Given the description of an element on the screen output the (x, y) to click on. 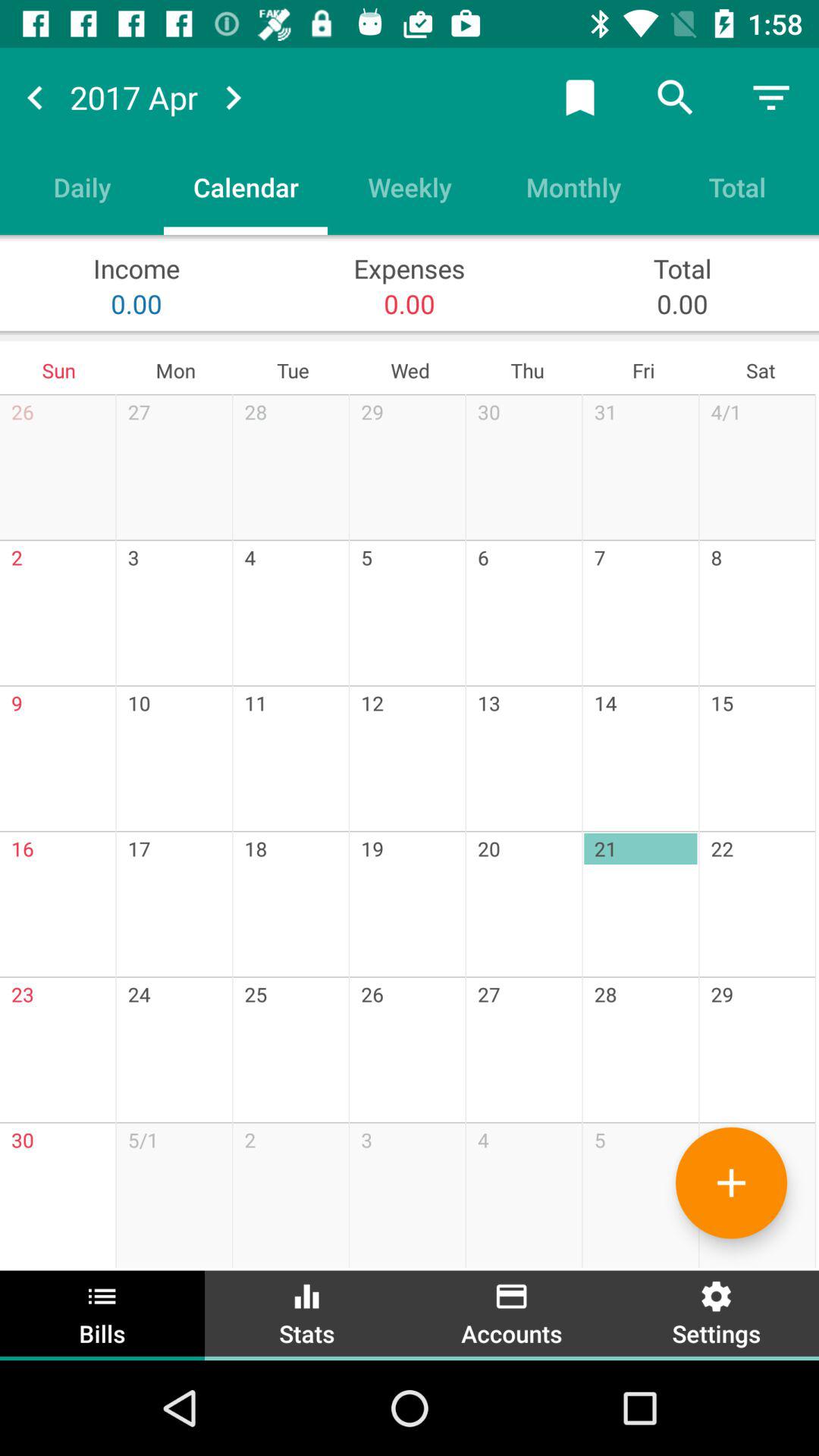
search (675, 97)
